Given the description of an element on the screen output the (x, y) to click on. 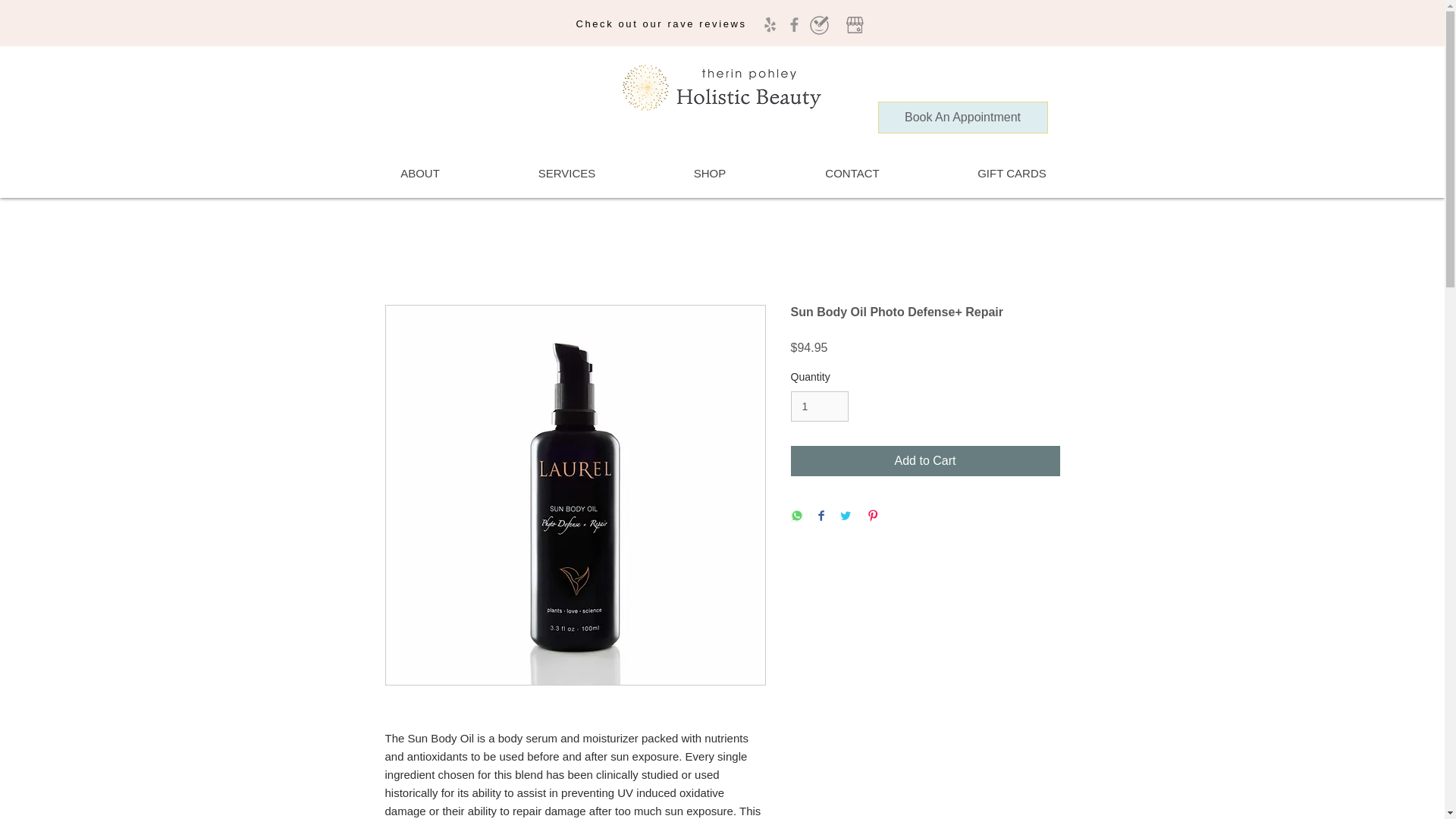
GIFT CARDS (1011, 173)
Add to Cart (924, 460)
Book An Appointment (962, 117)
1 (818, 406)
SHOP (708, 173)
